Given the description of an element on the screen output the (x, y) to click on. 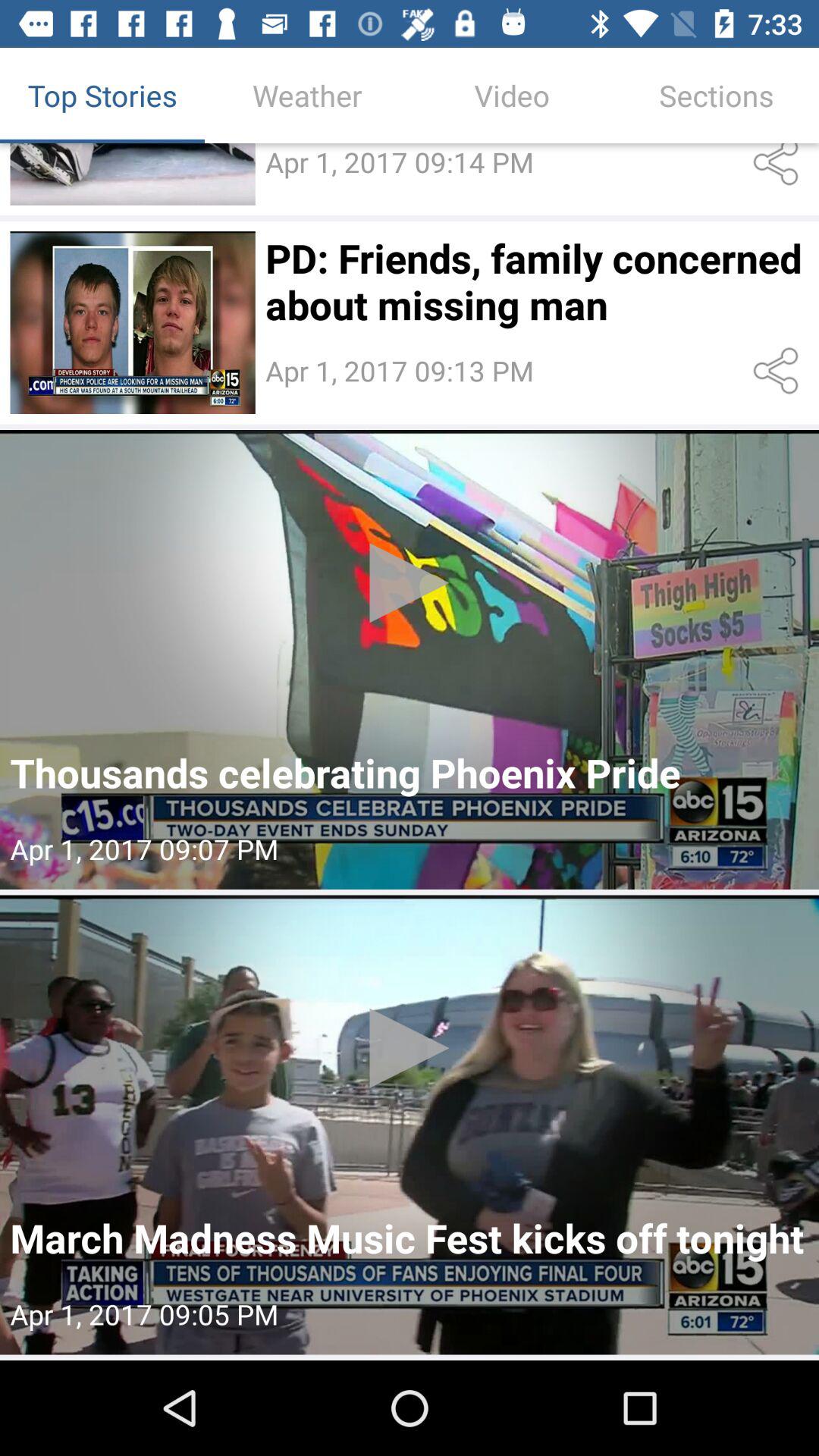
go to article (132, 322)
